Given the description of an element on the screen output the (x, y) to click on. 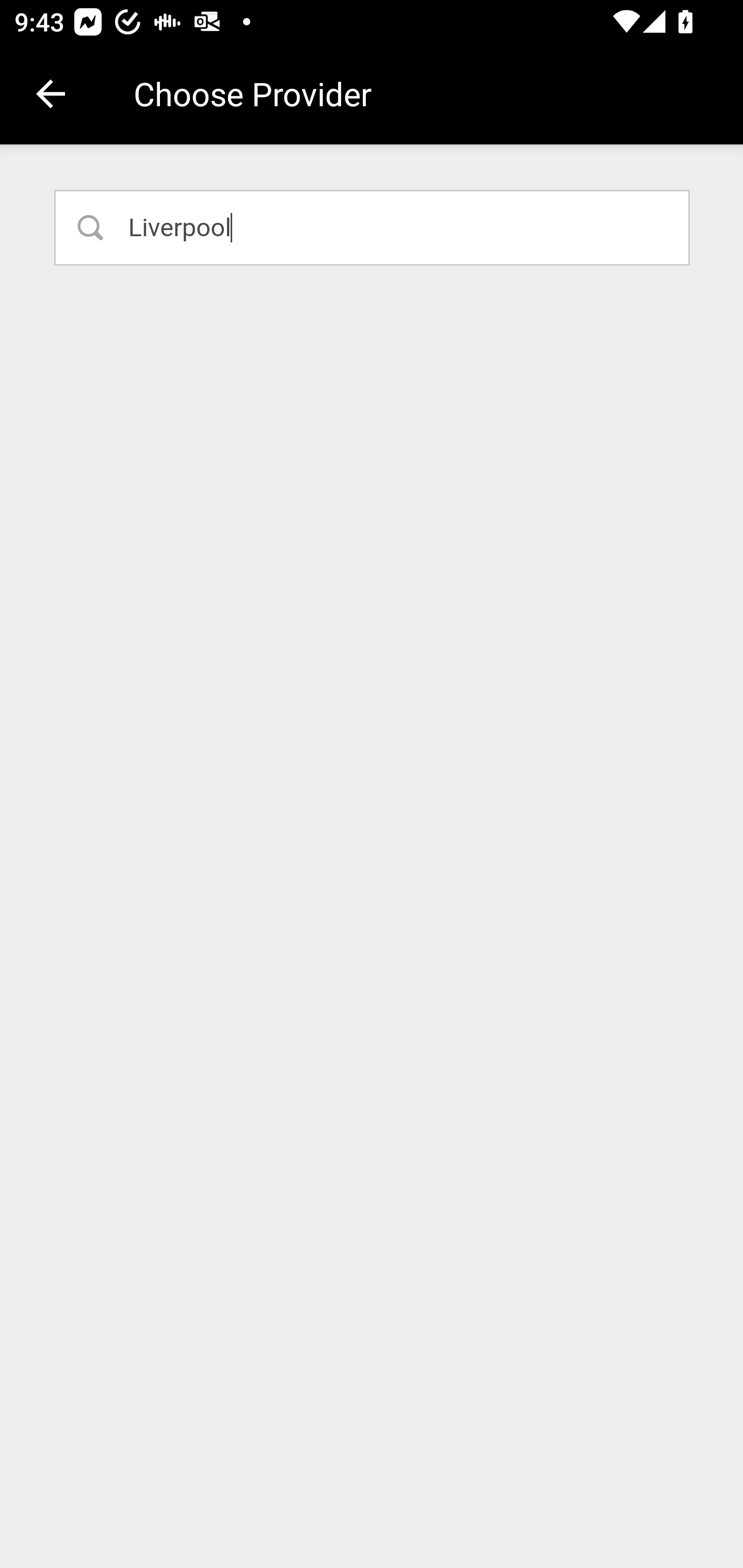
Navigate up (50, 93)
Liverpool (372, 227)
